Given the description of an element on the screen output the (x, y) to click on. 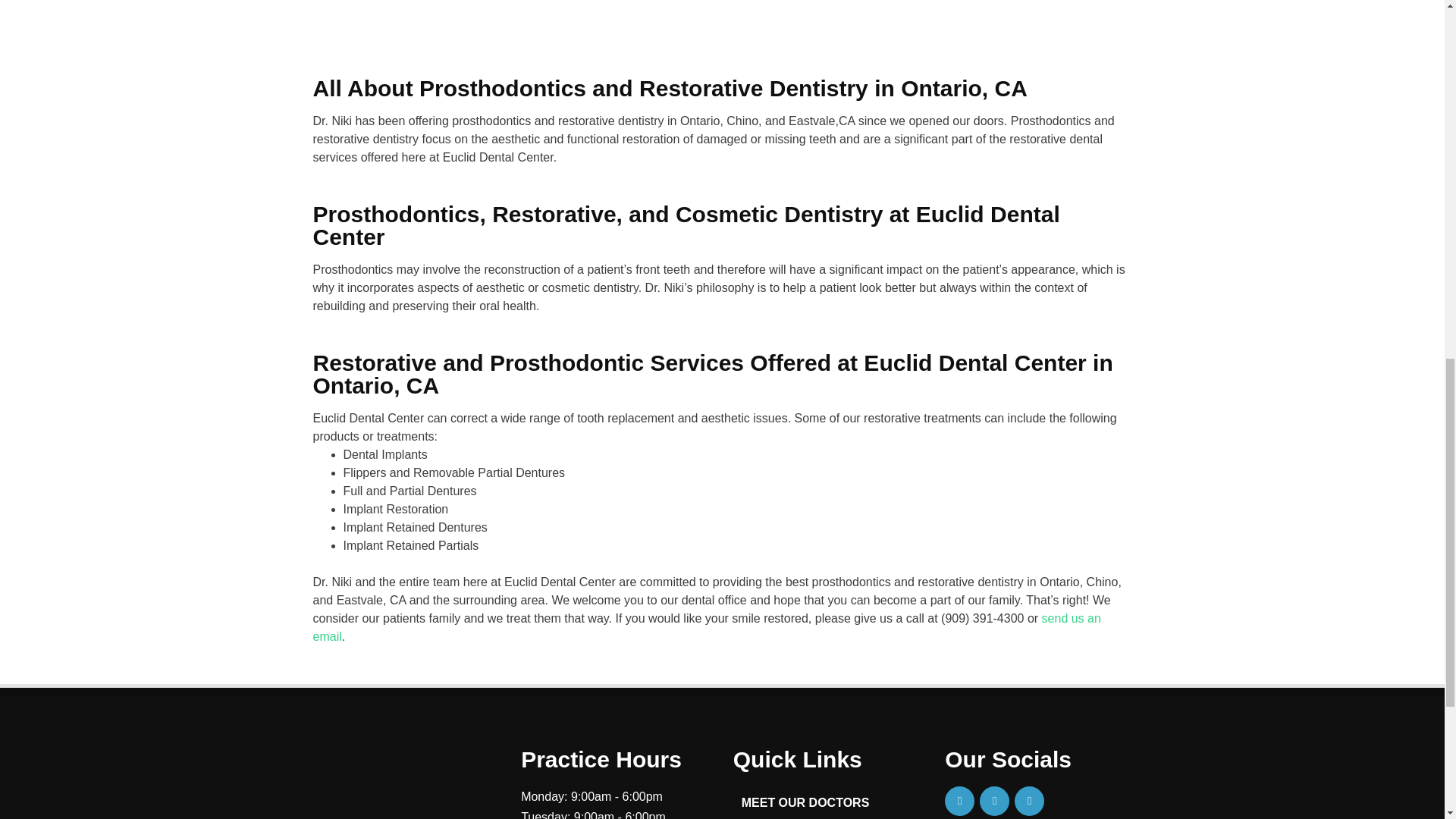
Prosthodontics - Euclid Dental Center - (722, 12)
